Given the description of an element on the screen output the (x, y) to click on. 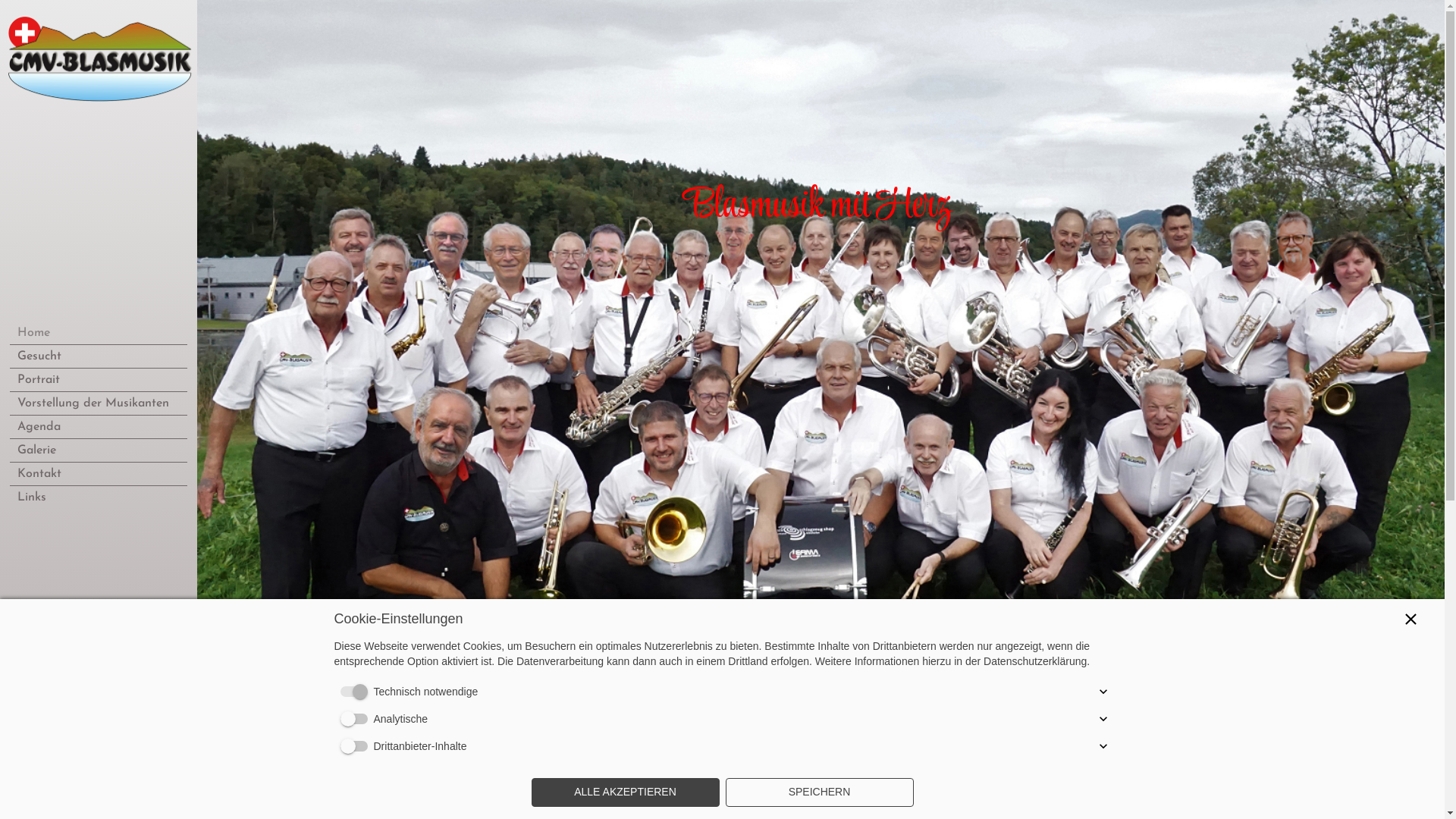
Links Element type: text (98, 496)
Vorstellung der Musikanten Element type: text (98, 402)
Home Element type: text (98, 332)
Agenda Element type: text (98, 426)
SPEICHERN Element type: text (818, 792)
Galerie Element type: text (98, 449)
Portrait Element type: text (98, 379)
ALLE AKZEPTIEREN Element type: text (624, 792)
Agenda Element type: text (301, 802)
Kontakt Element type: text (98, 473)
Gesucht Element type: text (98, 355)
